Given the description of an element on the screen output the (x, y) to click on. 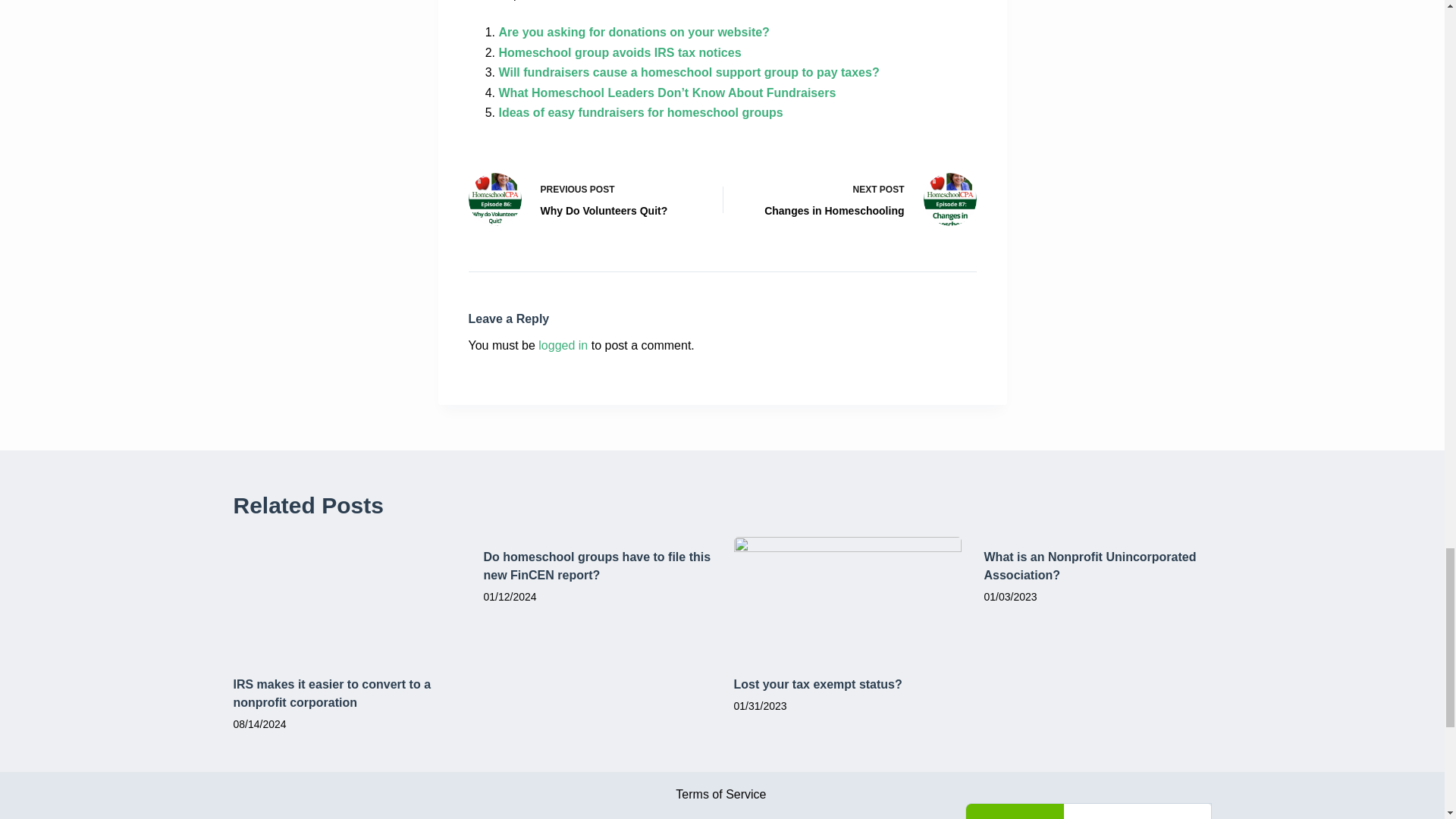
Homeschool group avoids IRS tax notices (620, 51)
Are you asking for donations on your website? (634, 31)
Ideas of easy fundraisers for homeschool groups (641, 112)
